Given the description of an element on the screen output the (x, y) to click on. 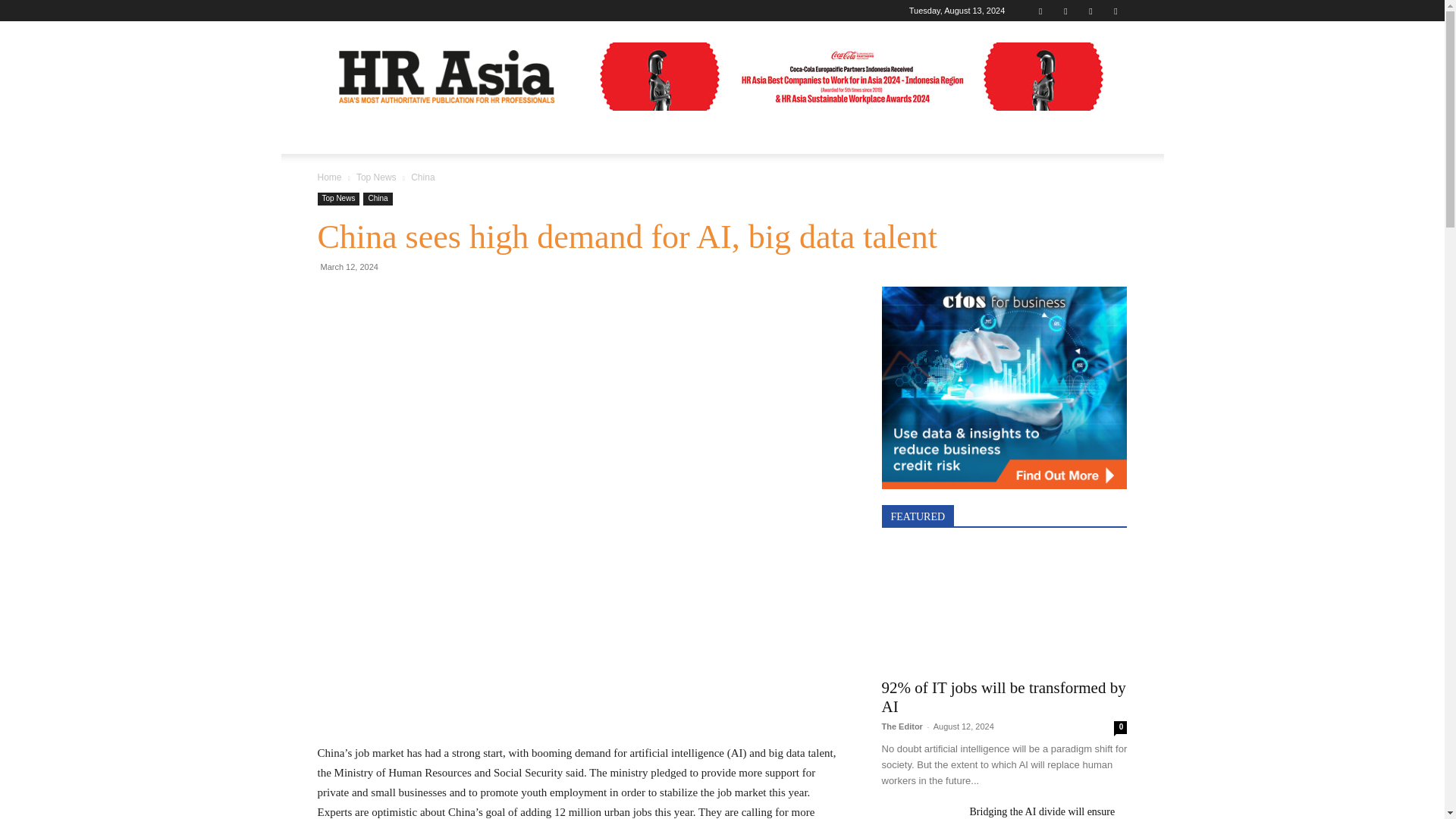
Twitter (1090, 10)
Youtube (1114, 10)
Linkedin (1065, 10)
Facebook (1040, 10)
